Given the description of an element on the screen output the (x, y) to click on. 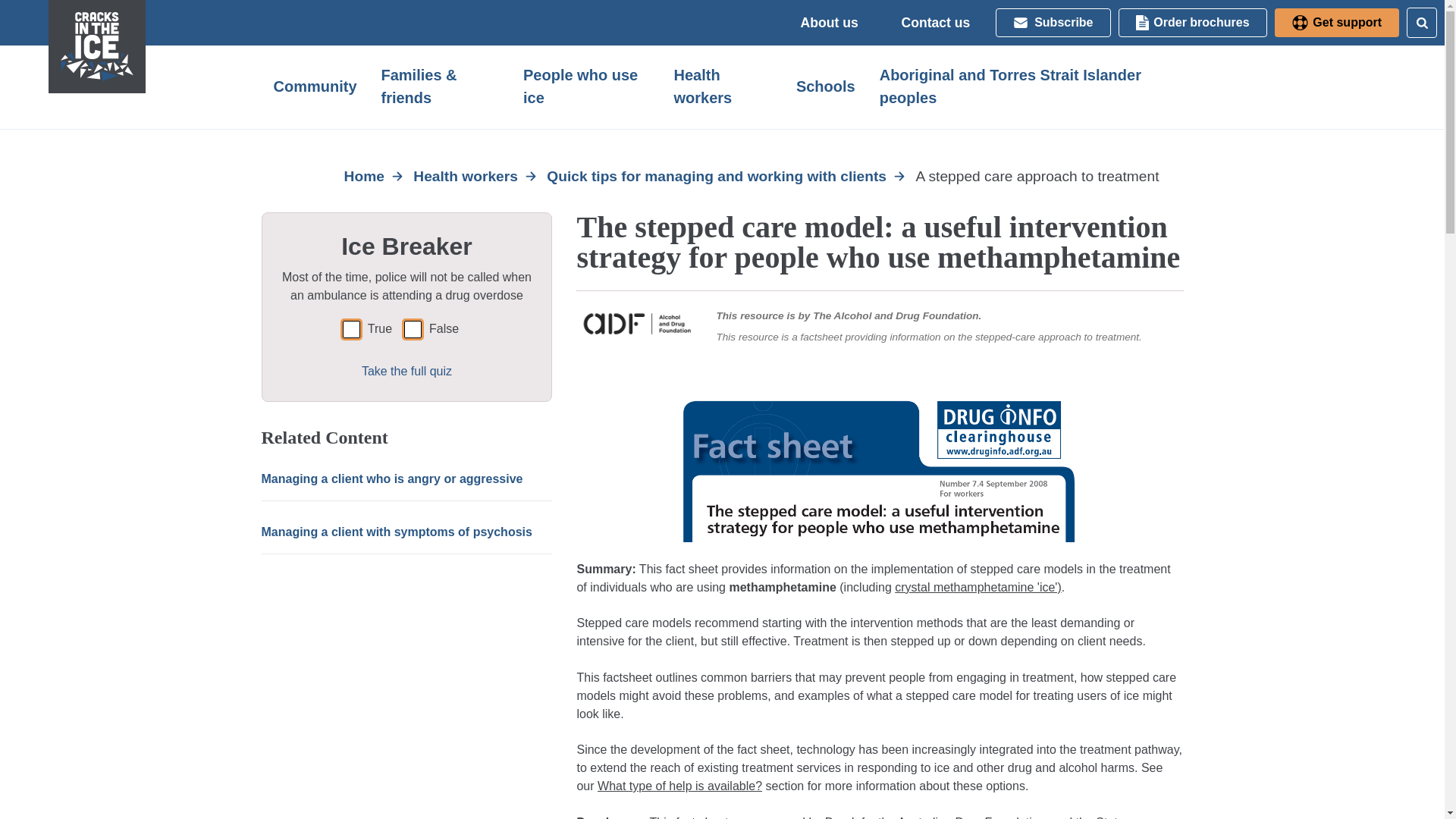
Health workers (721, 86)
Order brochures (1192, 22)
Aboriginal and Torres Strait Islander peoples (1025, 86)
People who use ice (585, 86)
methamphetamine (782, 587)
Subscribe (1052, 22)
Contact us (935, 21)
About us (829, 21)
Community (314, 86)
